Given the description of an element on the screen output the (x, y) to click on. 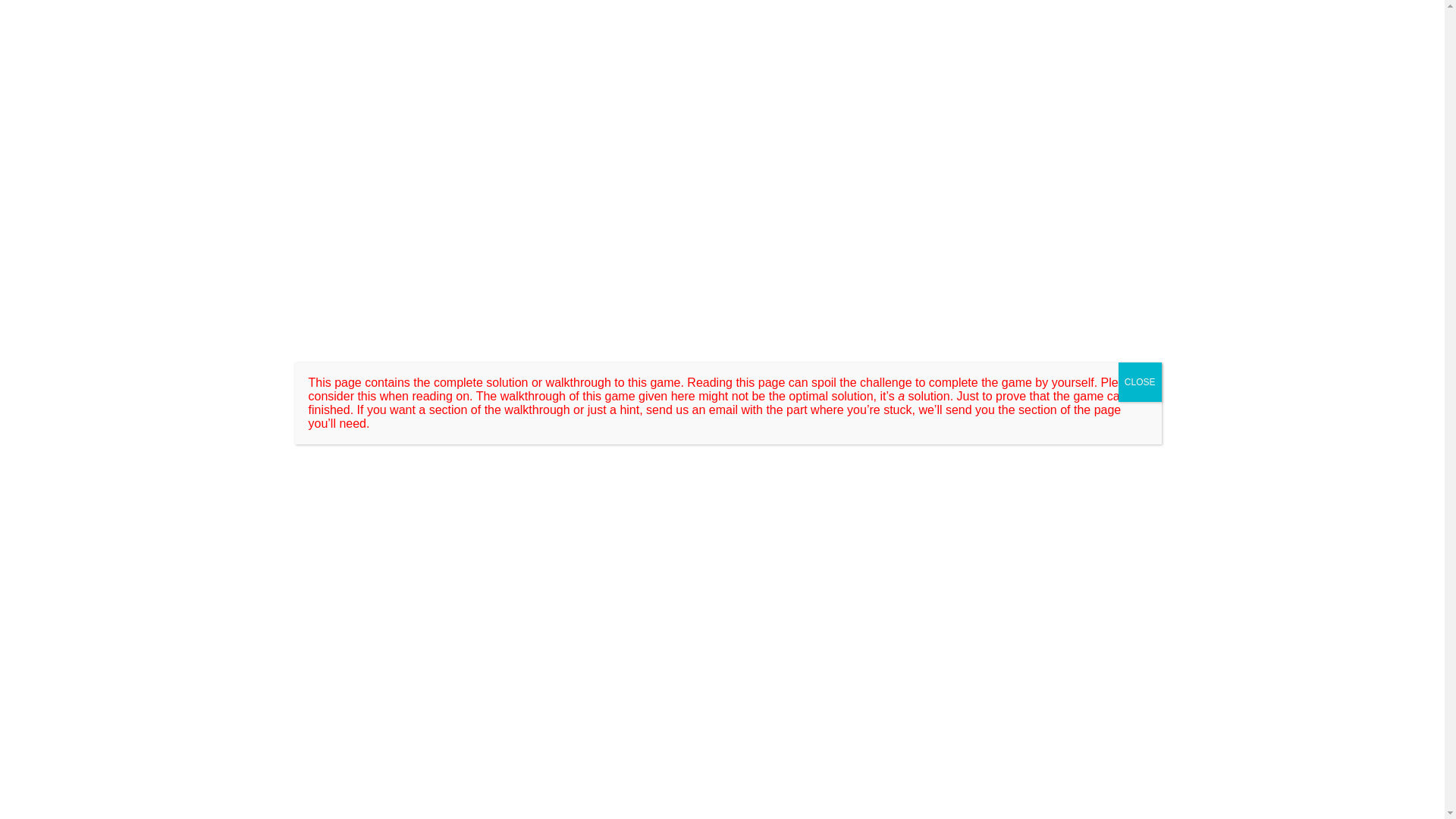
May 17, 2008 (361, 484)
Leon (420, 484)
LEVEL CODES (469, 67)
WALKTHROUGHS (362, 410)
Advertisement (472, 582)
Advertisement (576, 654)
INDEX A-Z (643, 67)
SECRET CODES (561, 67)
Search (1143, 27)
9 (453, 484)
WALKTHROUGHS (374, 67)
